Given the description of an element on the screen output the (x, y) to click on. 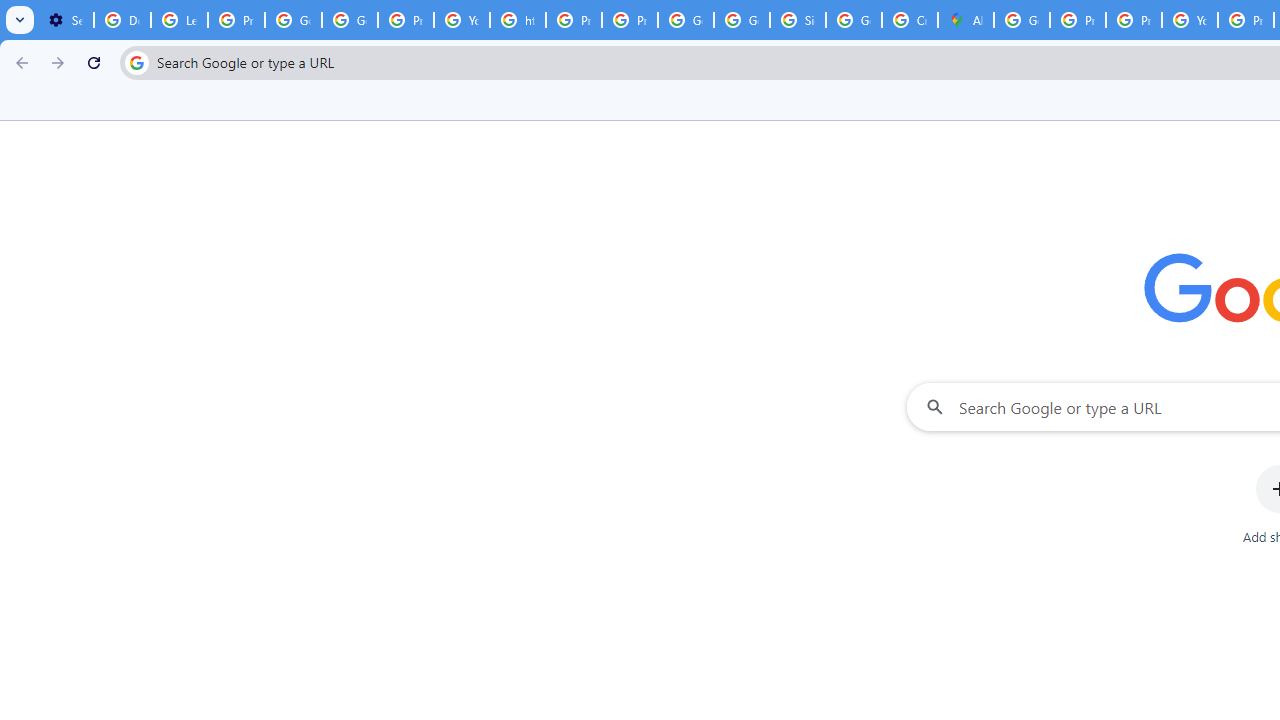
Privacy Help Center - Policies Help (1133, 20)
Delete photos & videos - Computer - Google Photos Help (122, 20)
YouTube (1190, 20)
Settings - On startup (65, 20)
